Given the description of an element on the screen output the (x, y) to click on. 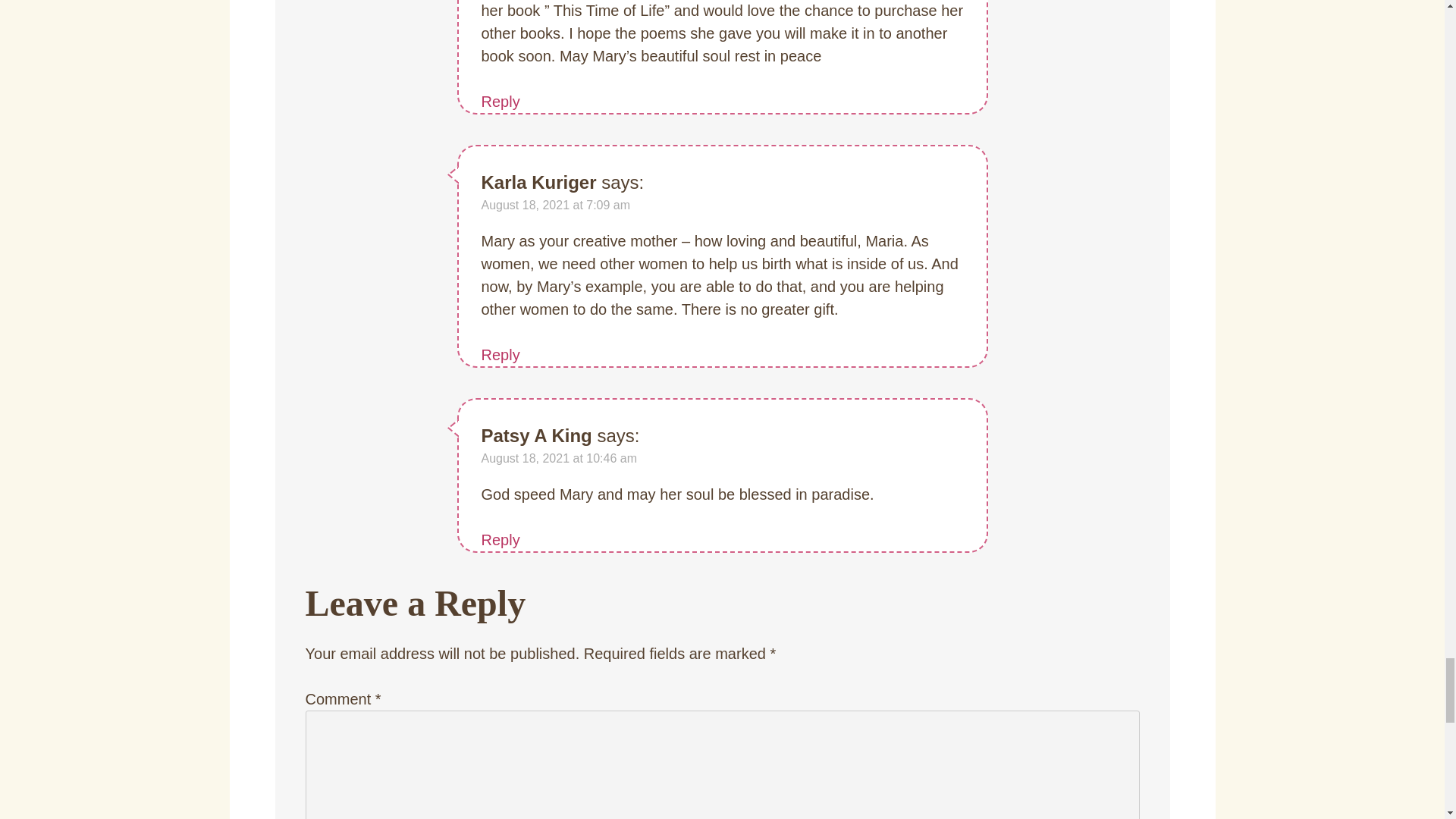
Reply (499, 101)
August 18, 2021 at 7:09 am (555, 205)
